Given the description of an element on the screen output the (x, y) to click on. 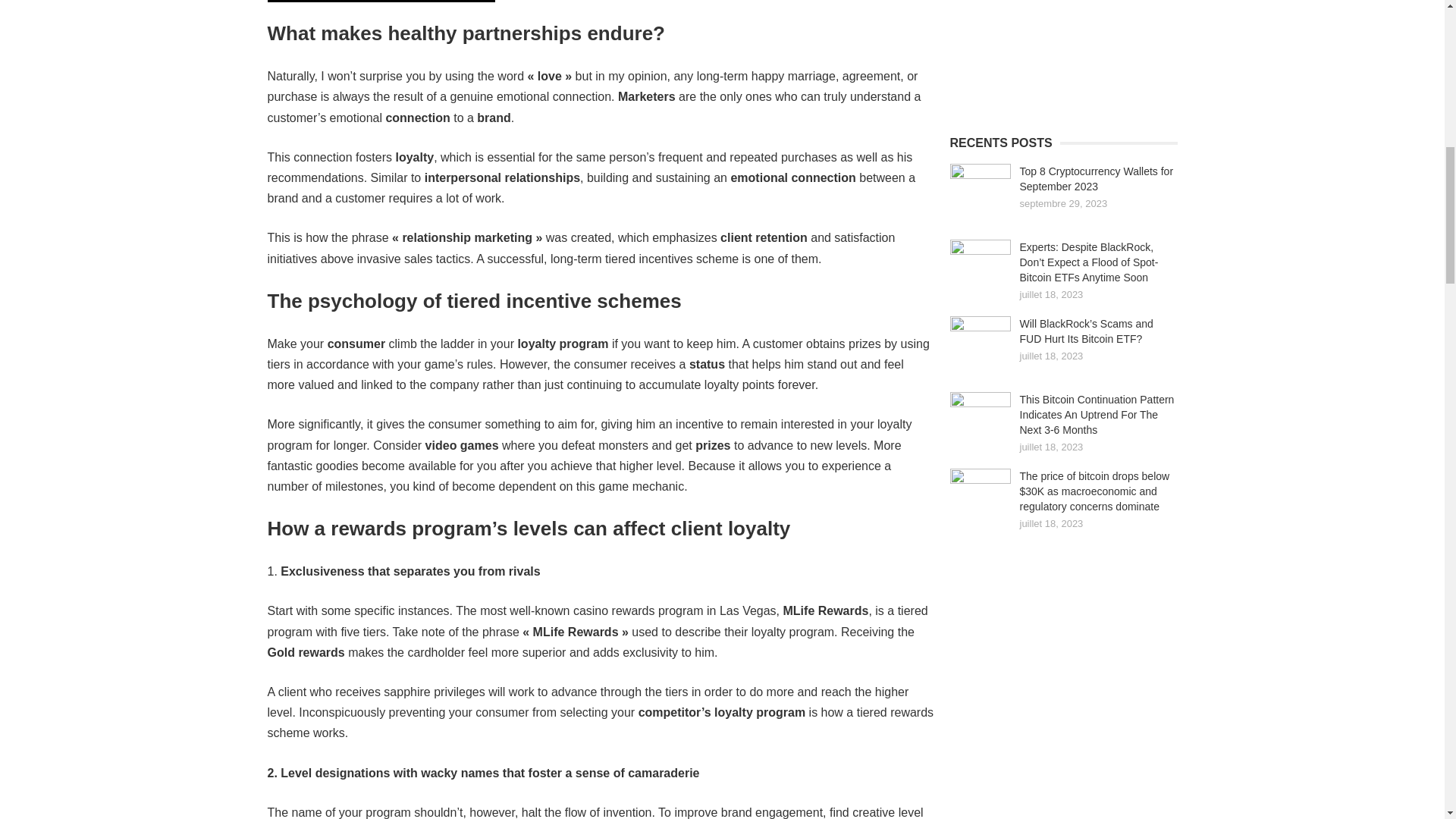
Top 8 Cryptocurrency Wallets for September 2023 (1096, 178)
How does a blockchain work - Simply Explained (1062, 54)
